Given the description of an element on the screen output the (x, y) to click on. 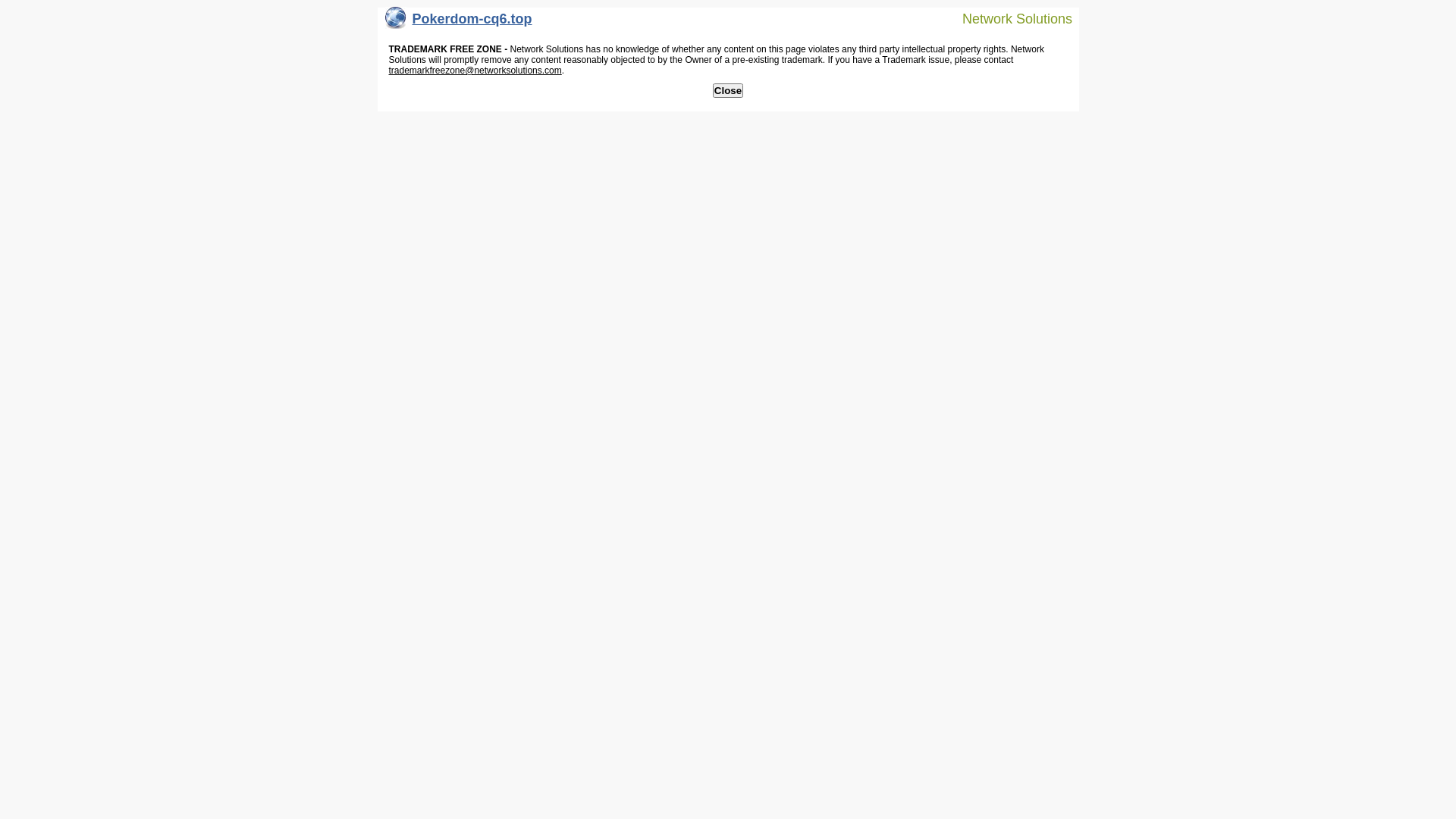
Pokerdom-cq6.top Element type: text (458, 21)
trademarkfreezone@networksolutions.com Element type: text (474, 70)
Network Solutions Element type: text (1007, 17)
Close Element type: text (727, 90)
